Given the description of an element on the screen output the (x, y) to click on. 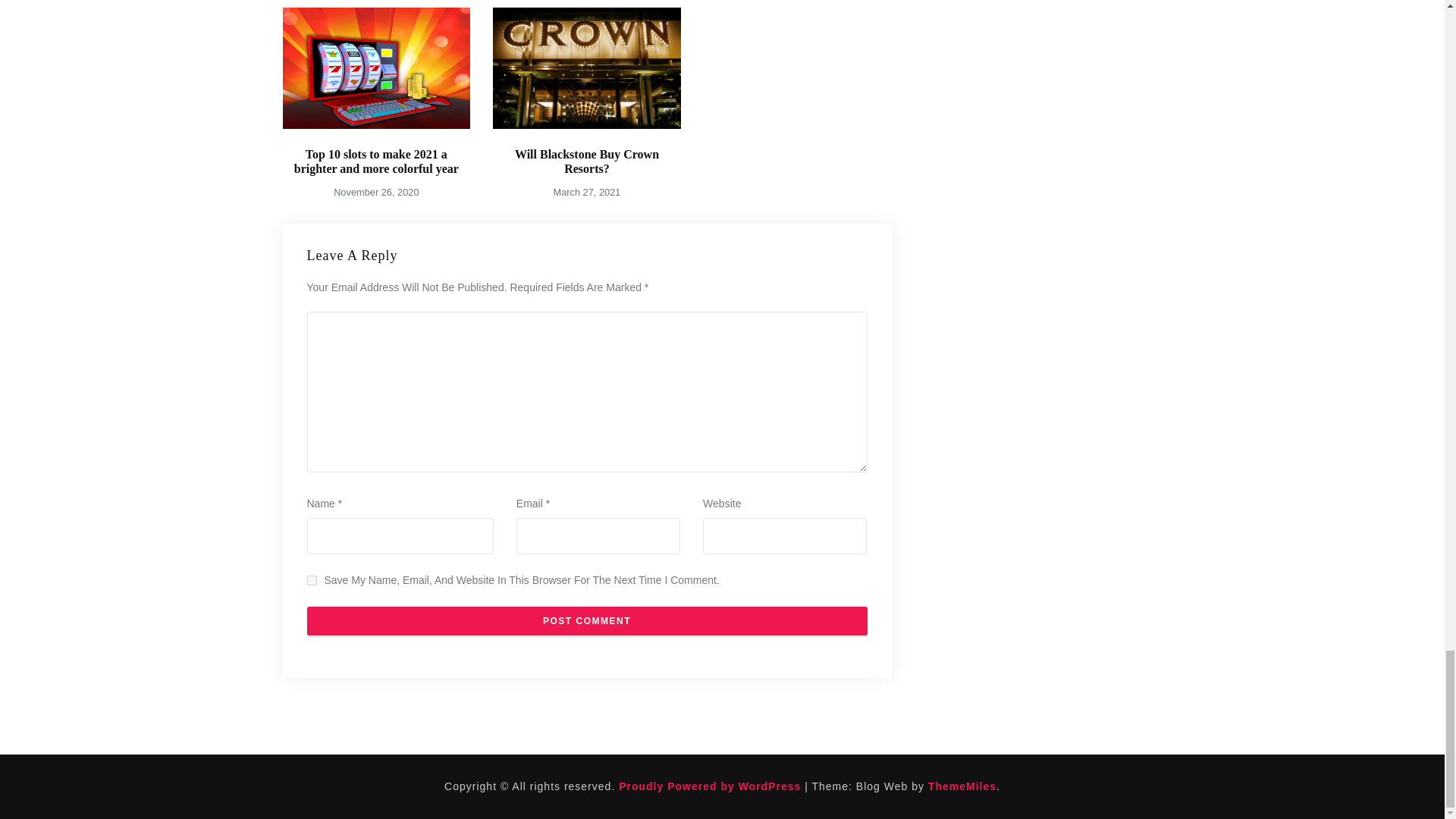
Post Comment (585, 620)
Top 10 slots to make 2021 a brighter and more colorful year (376, 161)
yes (310, 580)
Post Comment (585, 620)
Will Blackstone Buy Crown Resorts? (587, 161)
